Given the description of an element on the screen output the (x, y) to click on. 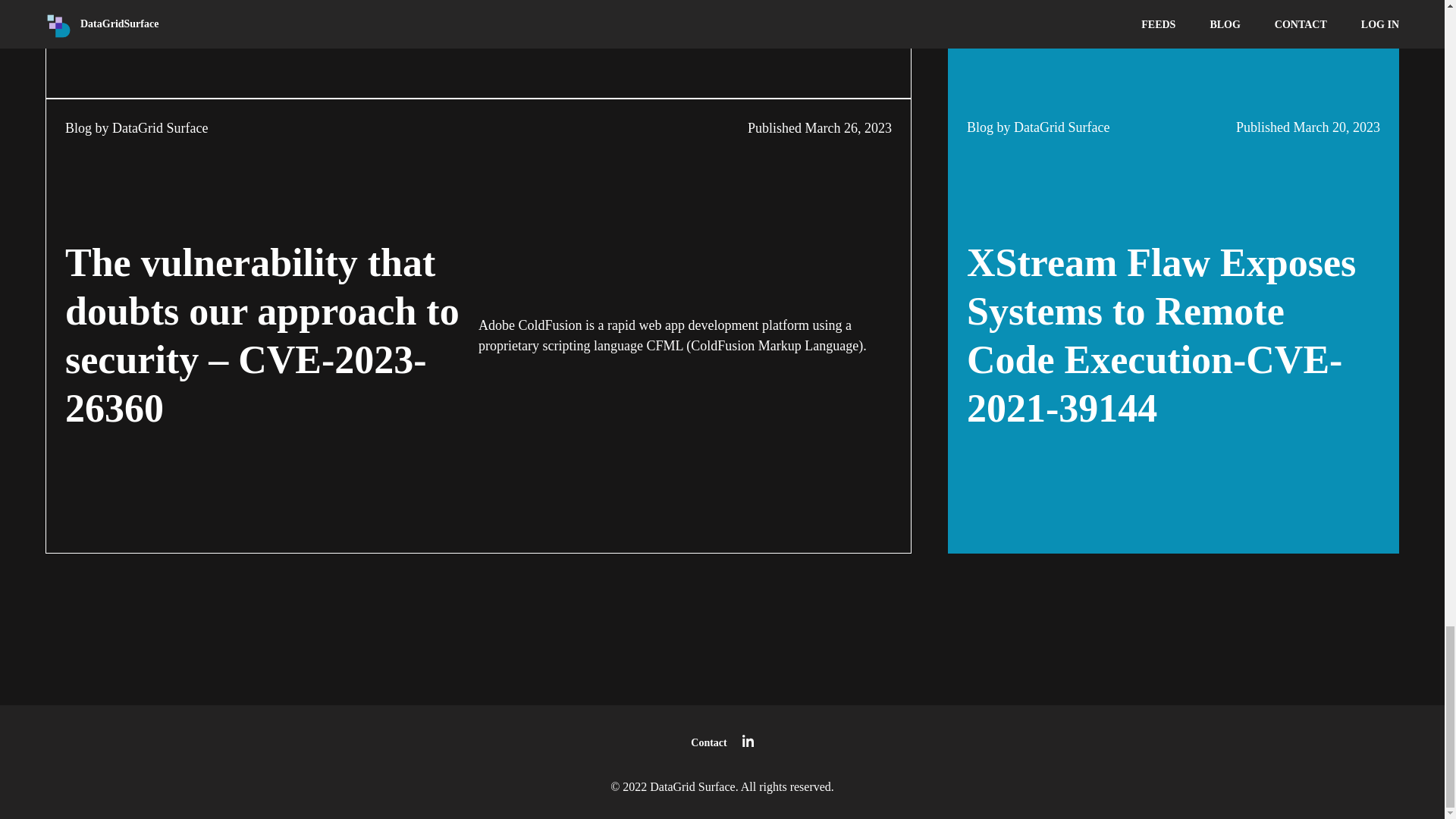
Contact (708, 742)
